Given the description of an element on the screen output the (x, y) to click on. 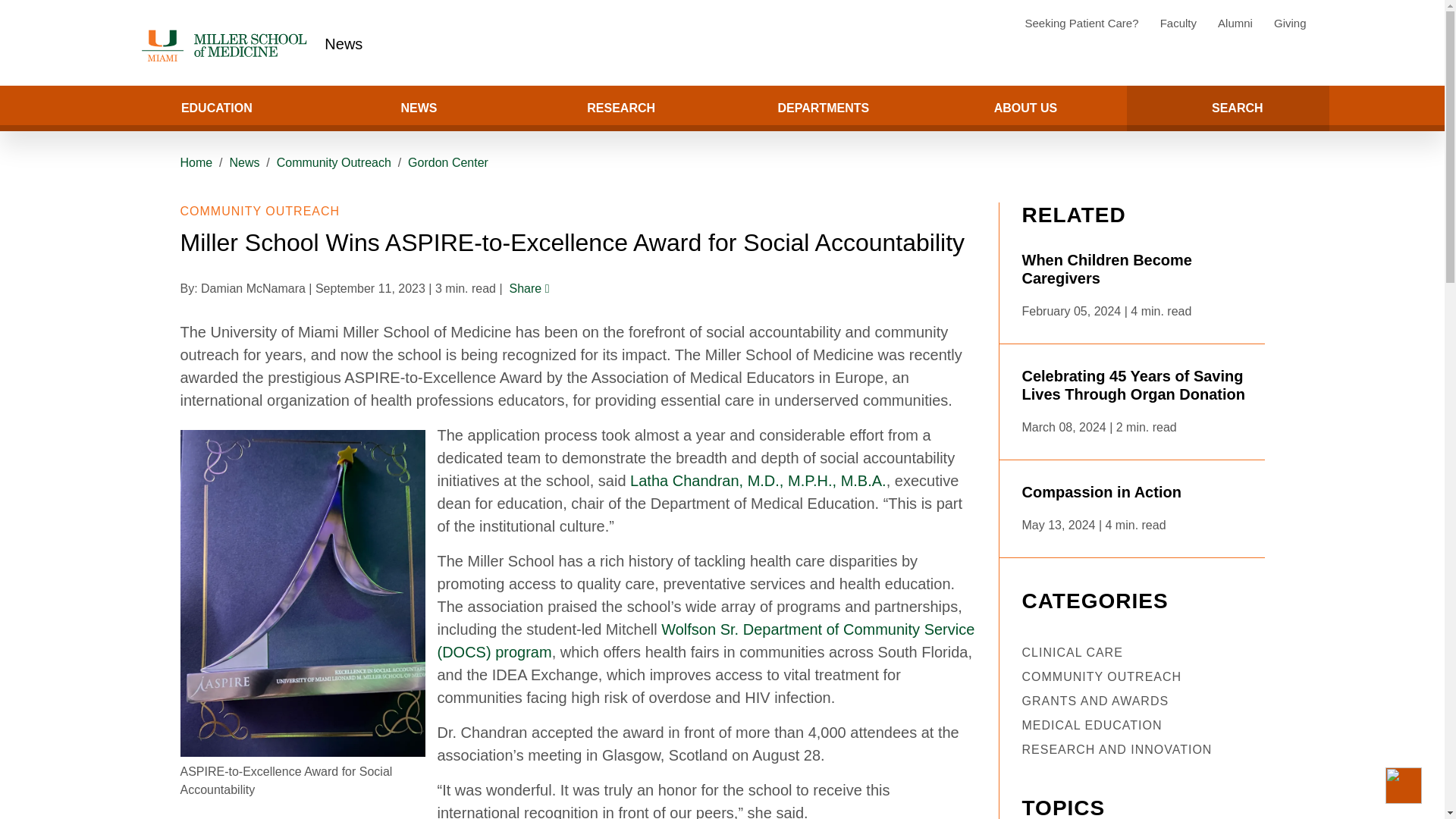
EDUCATION (216, 108)
Miller School of Medicine (227, 45)
NEWS (418, 108)
RESEARCH (620, 108)
News (343, 44)
Search (57, 108)
